Given the description of an element on the screen output the (x, y) to click on. 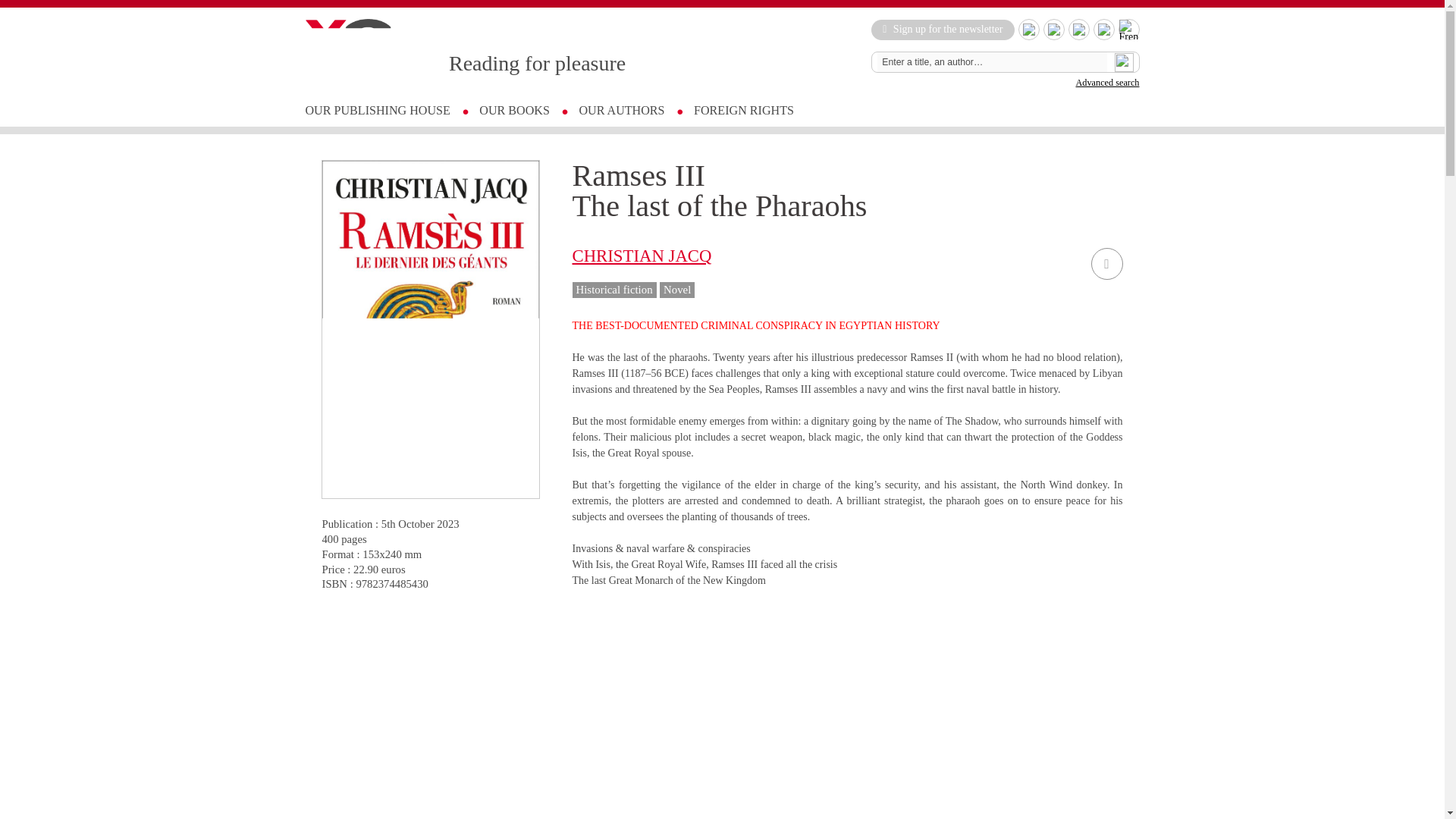
Advanced search (1106, 81)
OUR BOOKS (514, 110)
CHRISTIAN JACQ (641, 255)
OUR AUTHORS (620, 110)
OUR PUBLISHING HOUSE (376, 110)
FOREIGN RIGHTS (743, 110)
Novel (676, 289)
Sign up for the newsletter (941, 29)
Historical fiction (614, 289)
Ramses III, by Christian Jacq (761, 710)
